Given the description of an element on the screen output the (x, y) to click on. 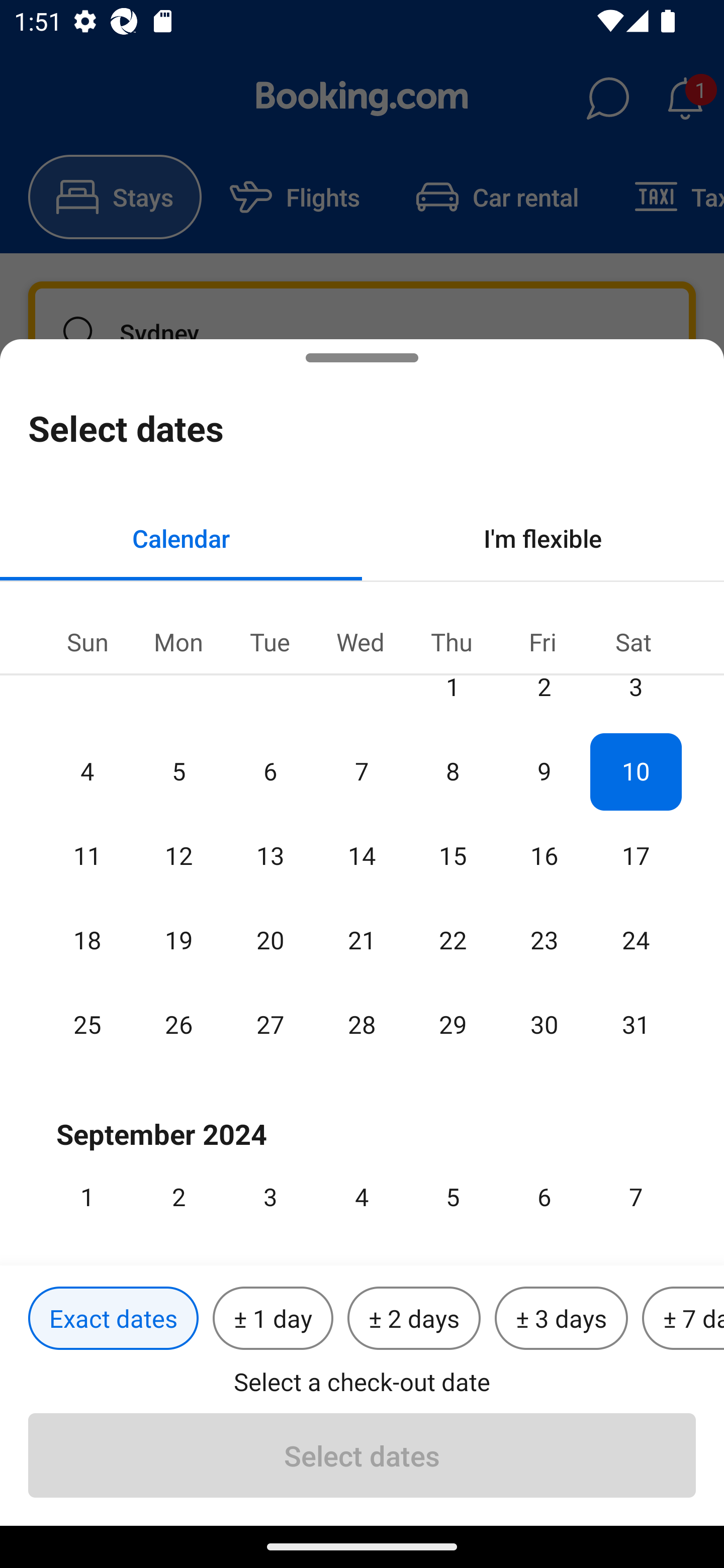
I'm flexible (543, 537)
Exact dates (113, 1318)
± 1 day (272, 1318)
± 2 days (413, 1318)
± 3 days (560, 1318)
± 7 days (683, 1318)
Select dates (361, 1454)
